Given the description of an element on the screen output the (x, y) to click on. 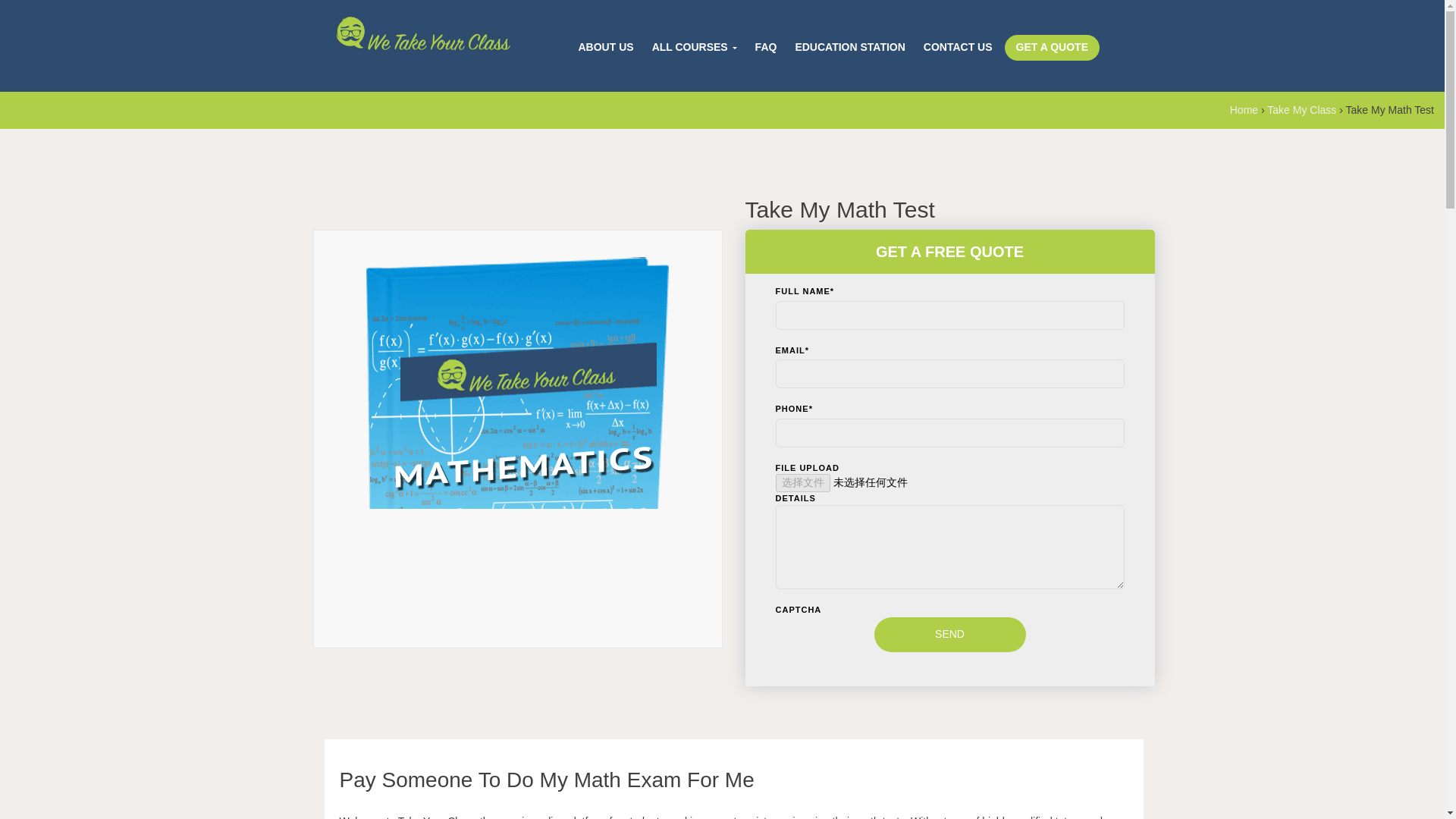
EDUCATION STATION (849, 47)
CONTACT US (957, 47)
FAQ (766, 47)
ALL COURSES (694, 47)
About Us (605, 47)
GET A QUOTE (1051, 47)
Send (949, 634)
All Courses (694, 47)
ABOUT US (605, 47)
We Take Your Class (419, 35)
